Given the description of an element on the screen output the (x, y) to click on. 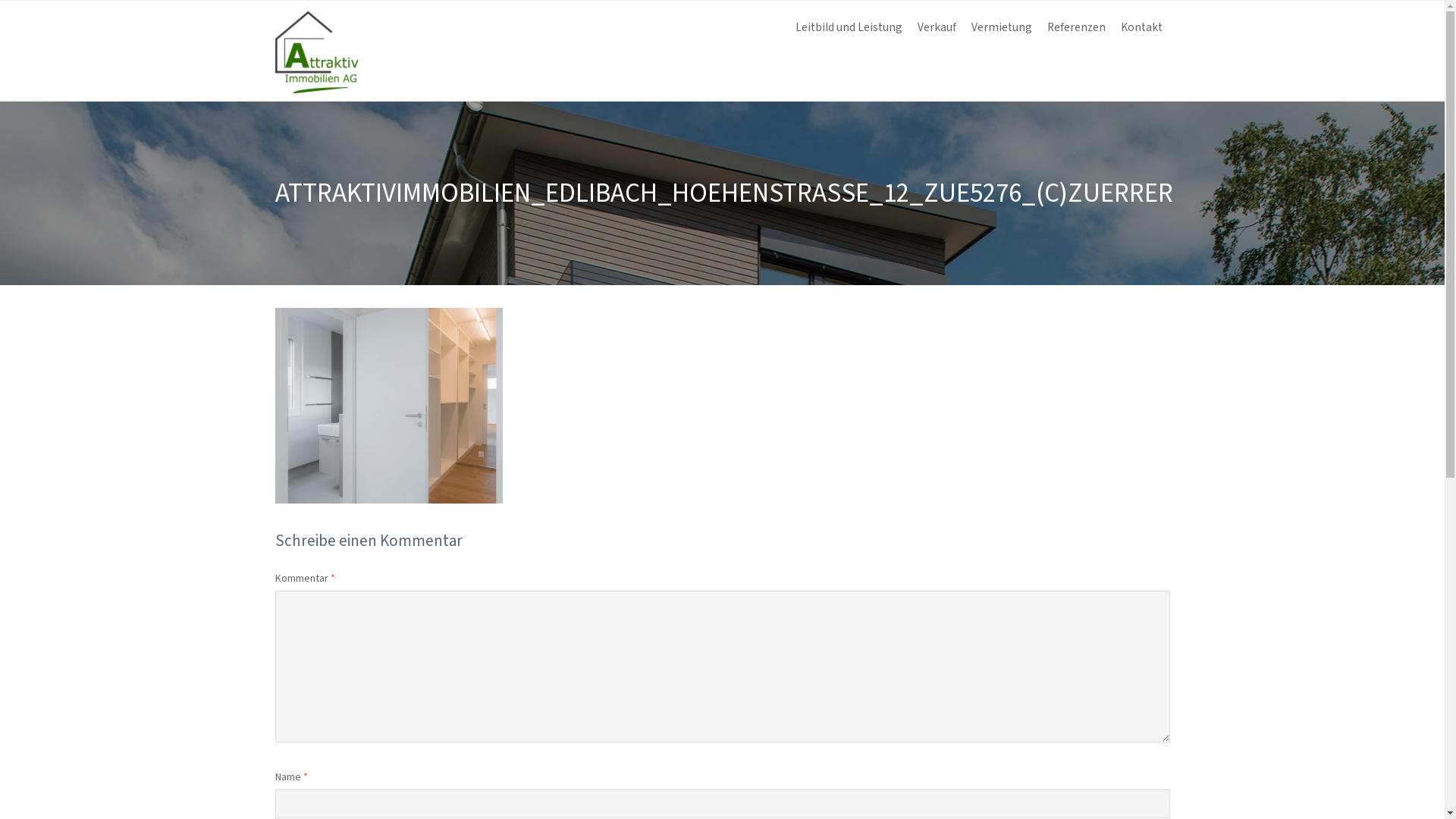
Referenzen Element type: text (1075, 27)
Kontakt Element type: text (1141, 27)
Leitbild und Leistung Element type: text (848, 27)
Verkauf Element type: text (936, 27)
Vermietung Element type: text (1000, 27)
